Given the description of an element on the screen output the (x, y) to click on. 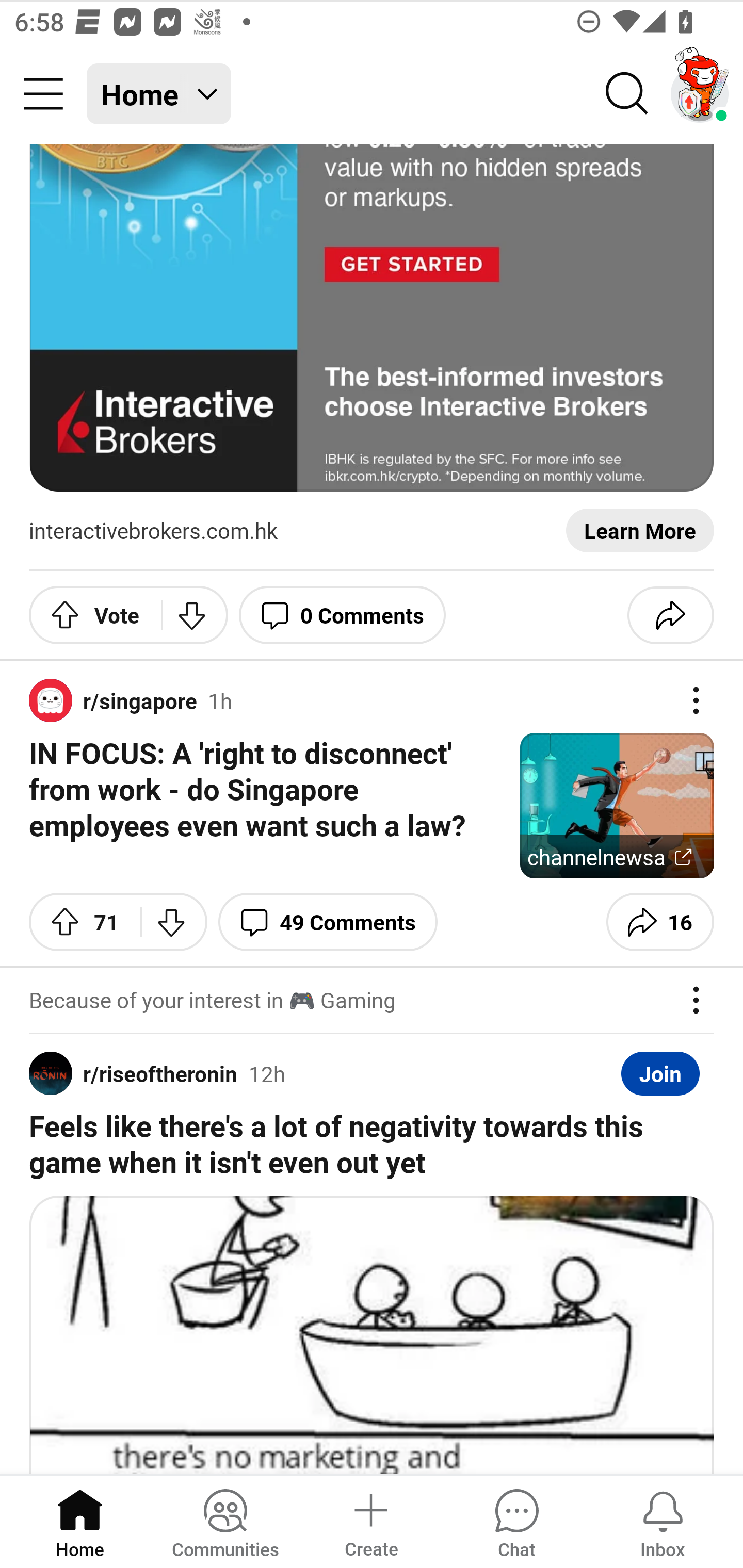
Community menu (43, 93)
Home Home feed (158, 93)
Search (626, 93)
TestAppium002 account (699, 93)
Home (80, 1520)
Communities (225, 1520)
Create a post Create (370, 1520)
Chat (516, 1520)
Inbox (662, 1520)
